Given the description of an element on the screen output the (x, y) to click on. 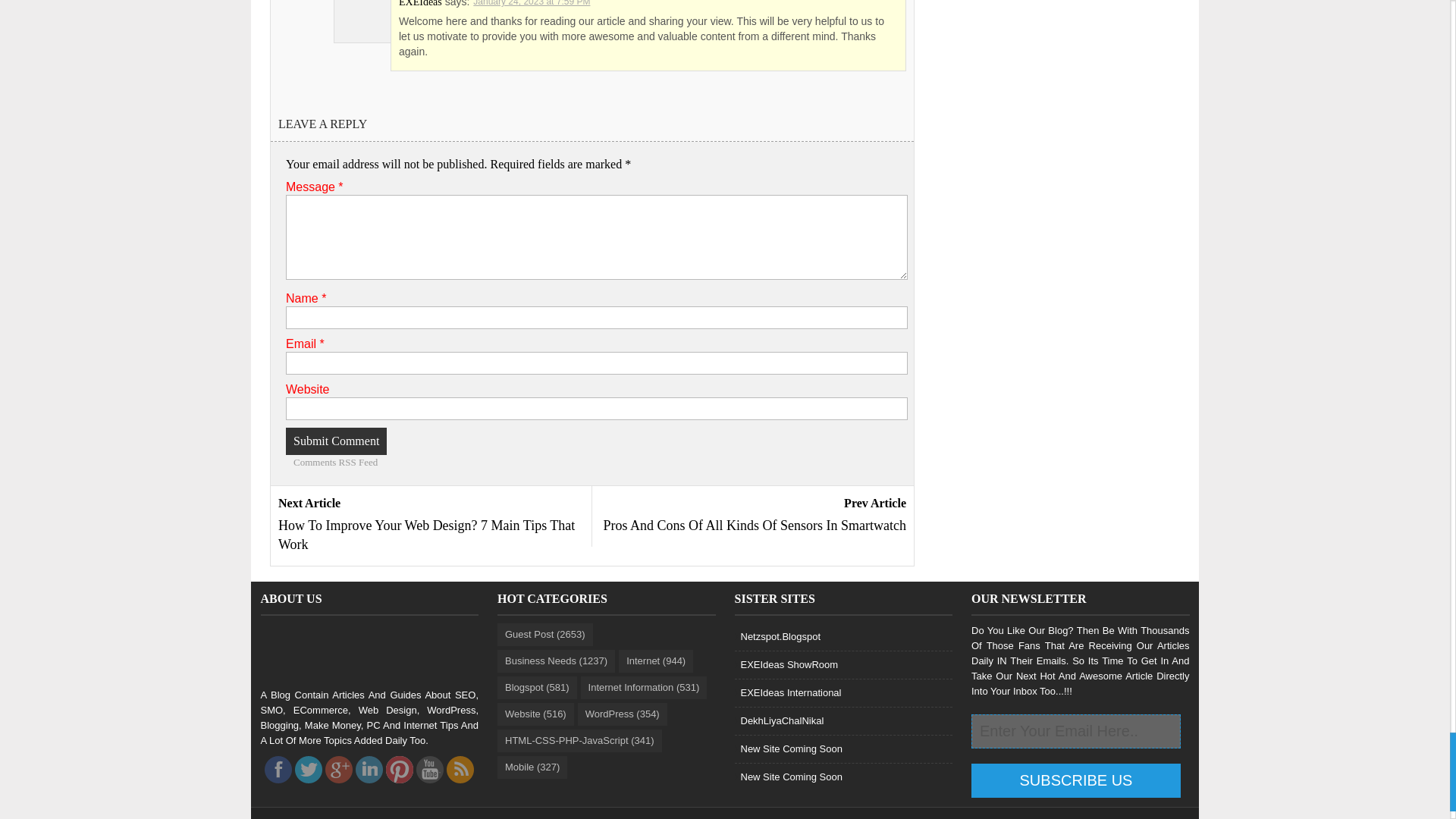
Submit Comment (336, 441)
